Given the description of an element on the screen output the (x, y) to click on. 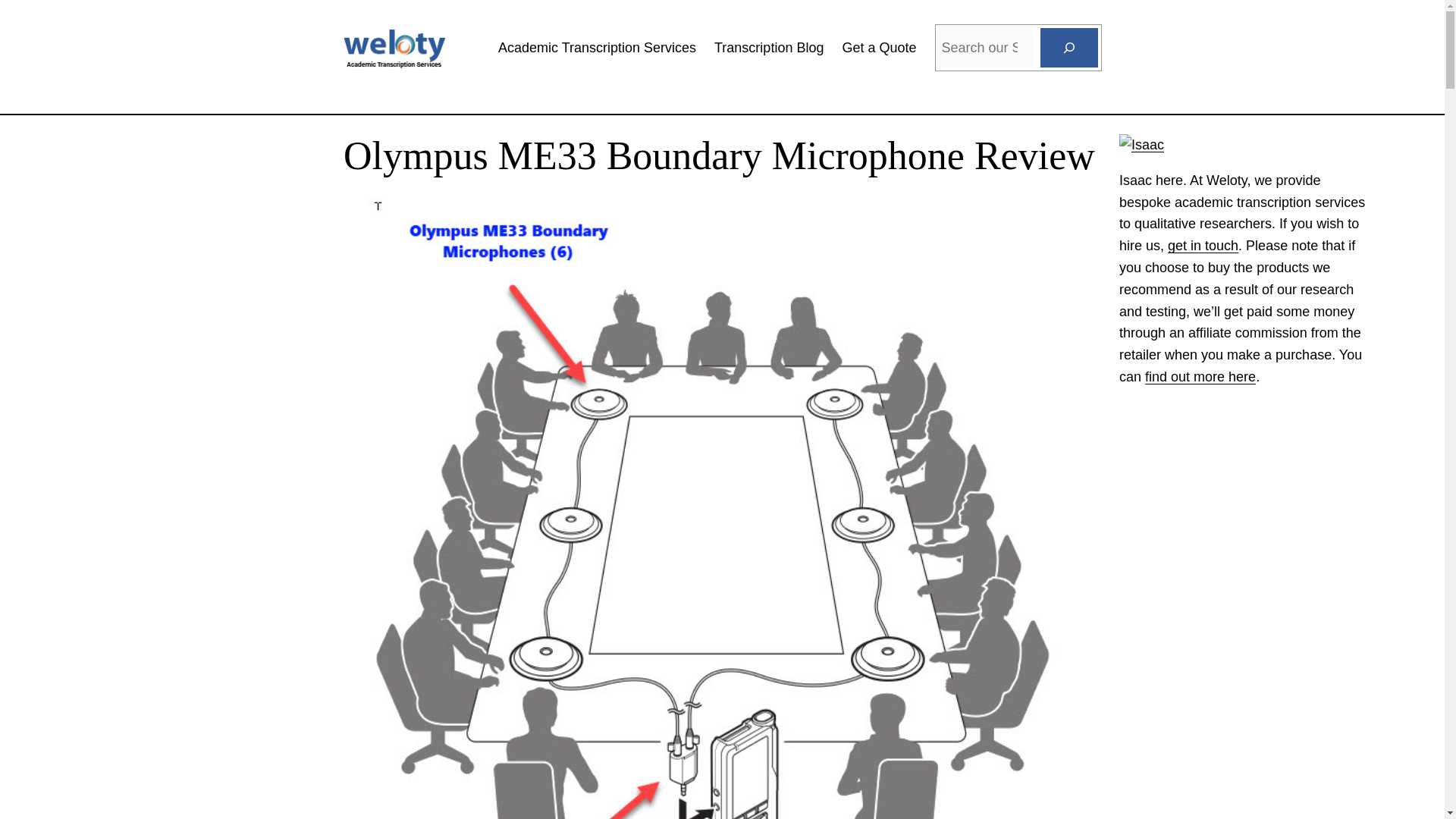
find out more here (1199, 376)
Academic Transcription Services (596, 47)
Get a Quote (878, 47)
Transcription Blog (769, 47)
get in touch (1203, 245)
